Given the description of an element on the screen output the (x, y) to click on. 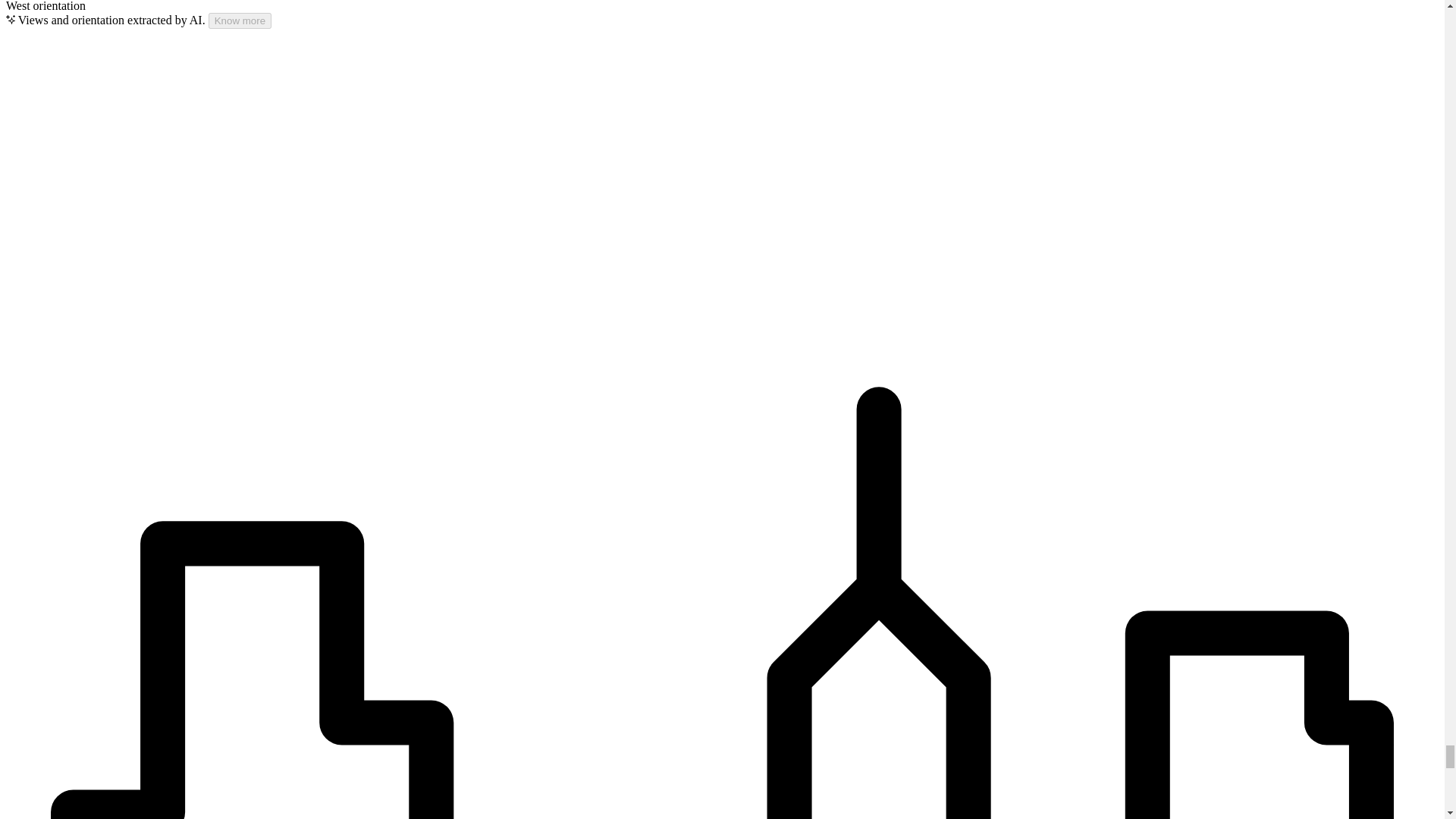
Know more (239, 20)
